Given the description of an element on the screen output the (x, y) to click on. 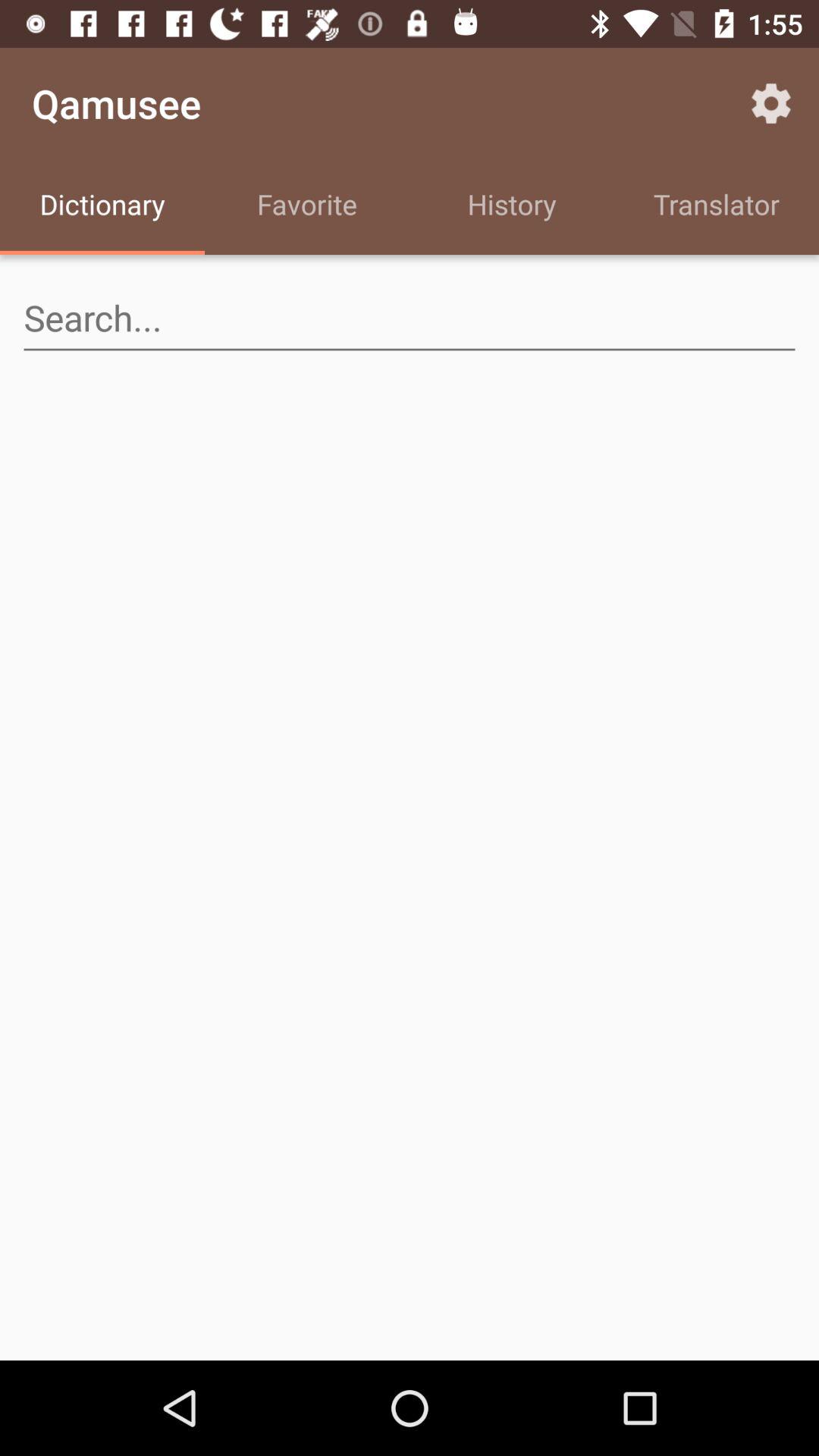
search for an item (409, 318)
